Given the description of an element on the screen output the (x, y) to click on. 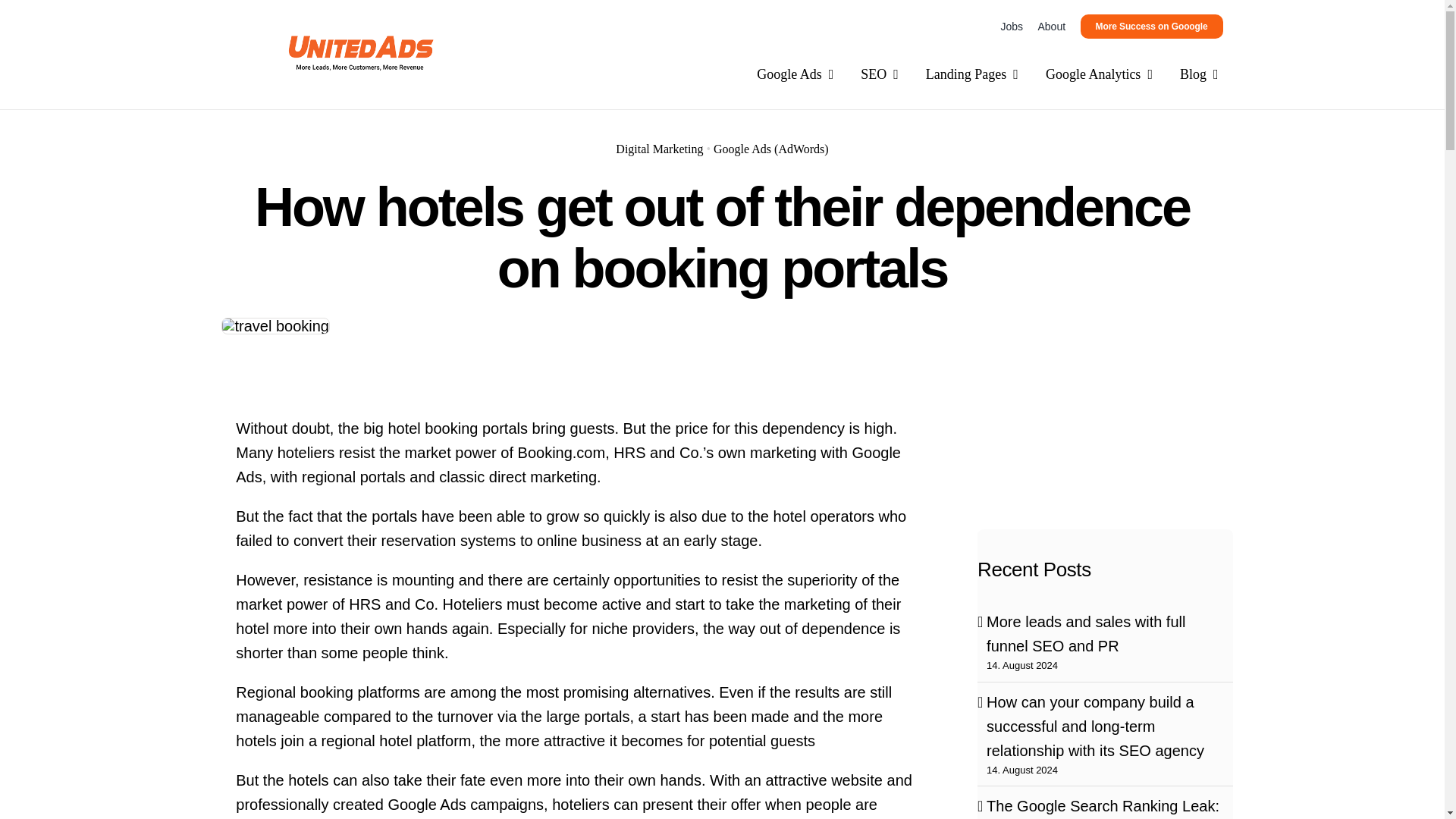
Jobs (1011, 26)
More Success on Gooogle (1151, 26)
How hotels get out of their dependence on booking portals 17 (357, 51)
Google Ads (795, 74)
SEO (879, 74)
About (1050, 26)
